Given the description of an element on the screen output the (x, y) to click on. 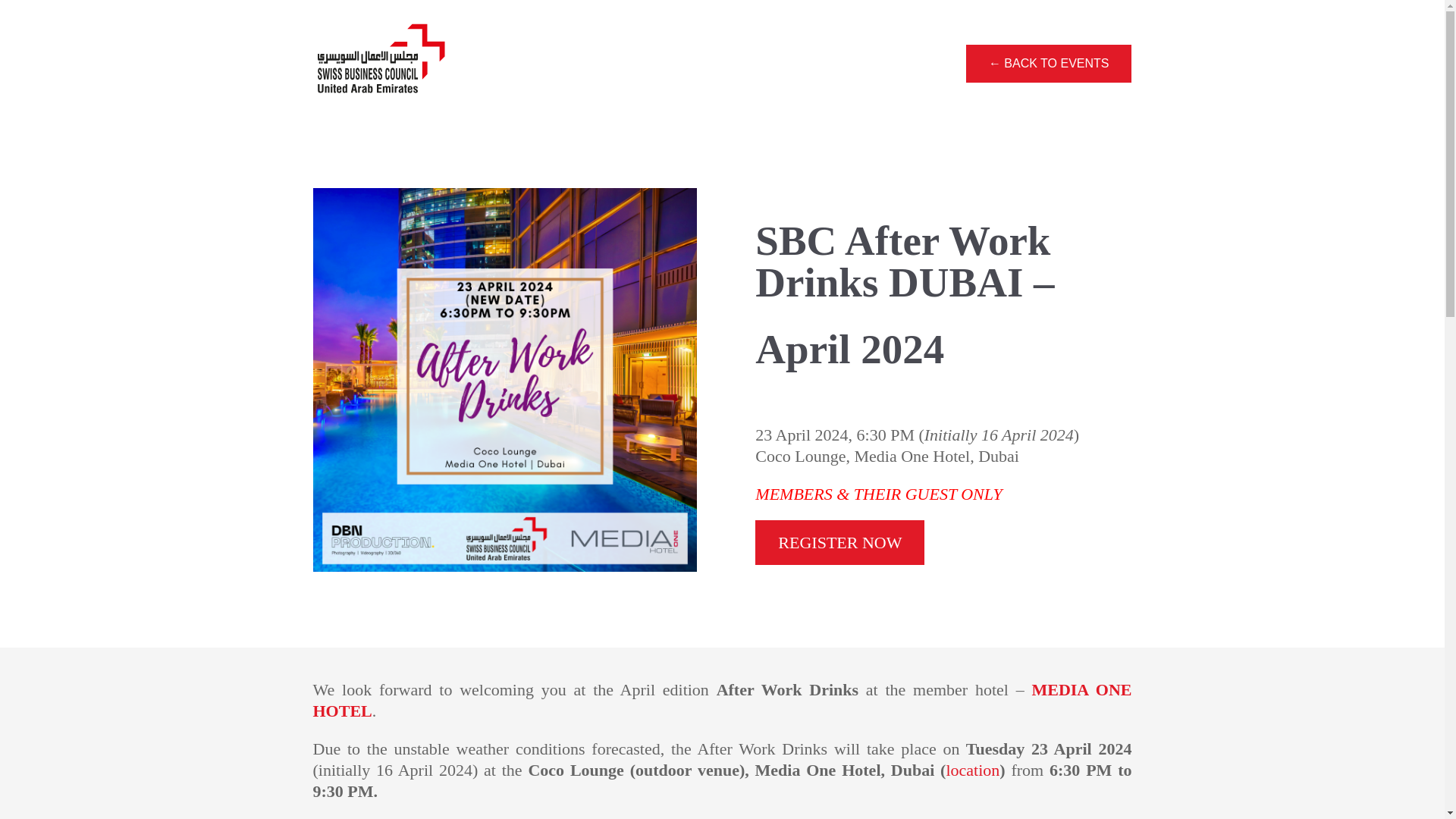
SBC United Arab Emirates RGB (380, 63)
REGISTER NOW (839, 542)
location (971, 769)
MEDIA ONE HOTEL (722, 700)
